Given the description of an element on the screen output the (x, y) to click on. 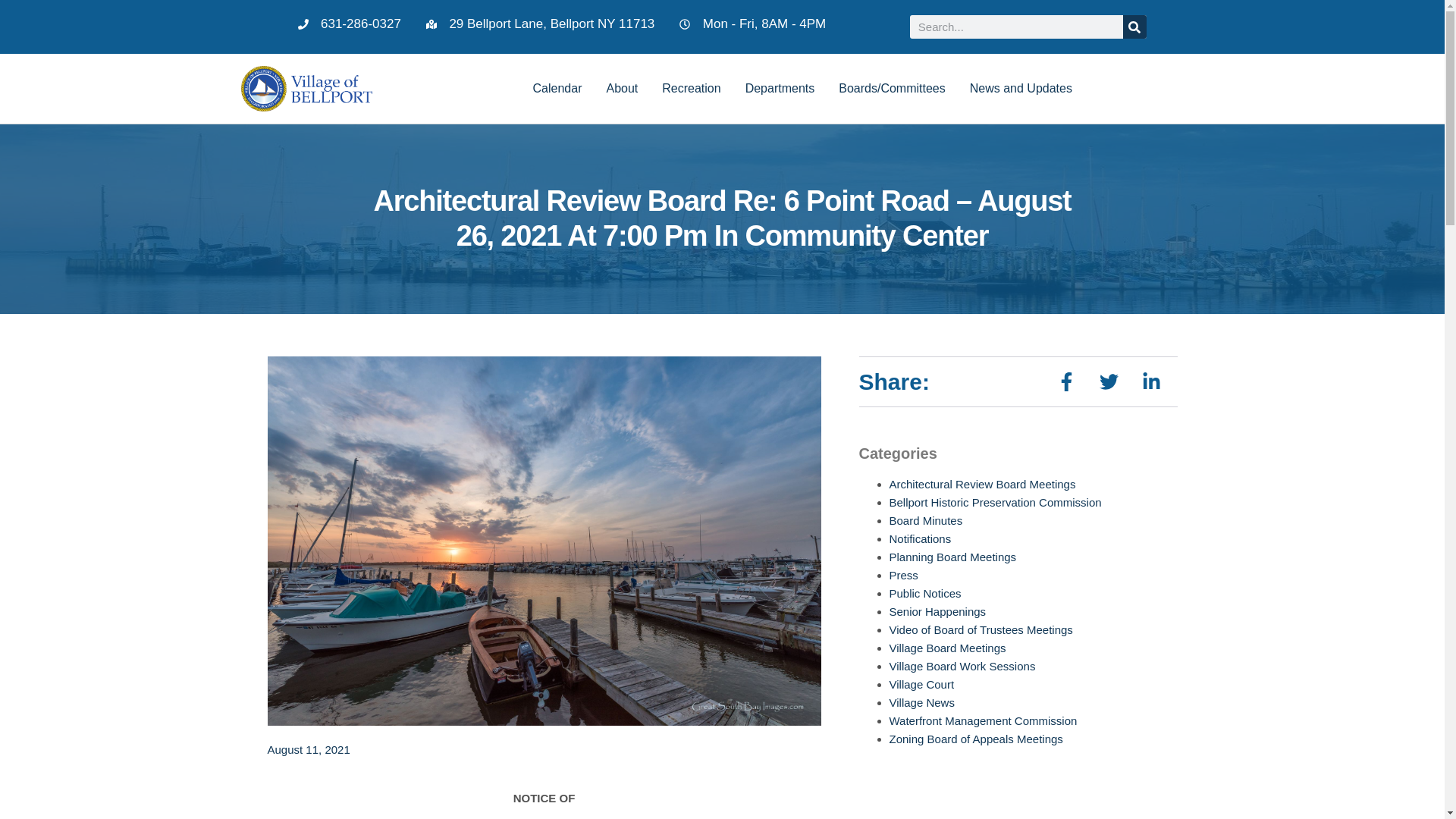
29 Bellport Lane, Bellport NY 11713 (539, 24)
631-286-0327 (348, 24)
Departments (780, 88)
Calendar (557, 88)
Recreation (690, 88)
About (621, 88)
